Given the description of an element on the screen output the (x, y) to click on. 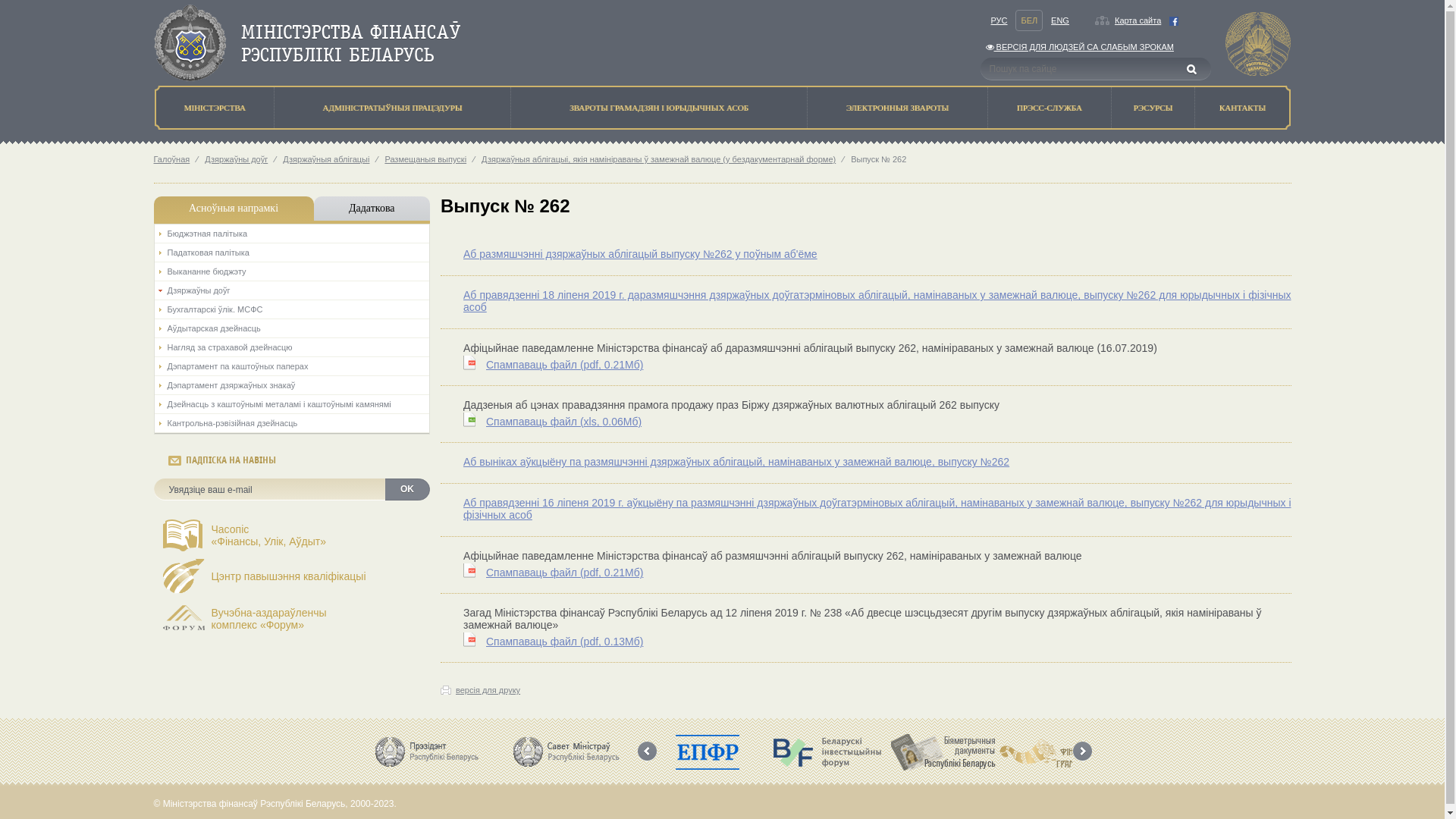
OK Element type: text (406, 489)
ENG Element type: text (1059, 20)
